Given the description of an element on the screen output the (x, y) to click on. 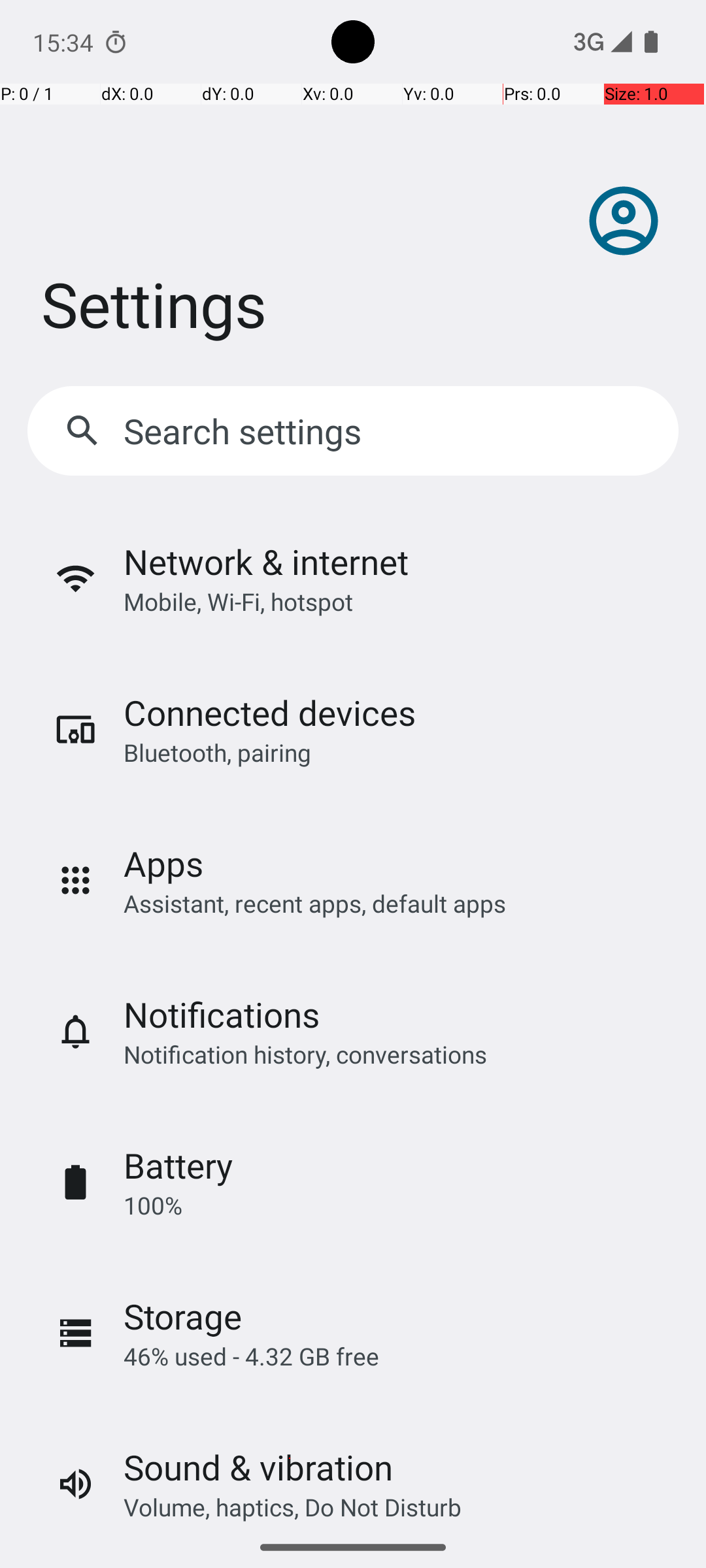
46% used - 4.32 GB free Element type: android.widget.TextView (251, 1355)
